Given the description of an element on the screen output the (x, y) to click on. 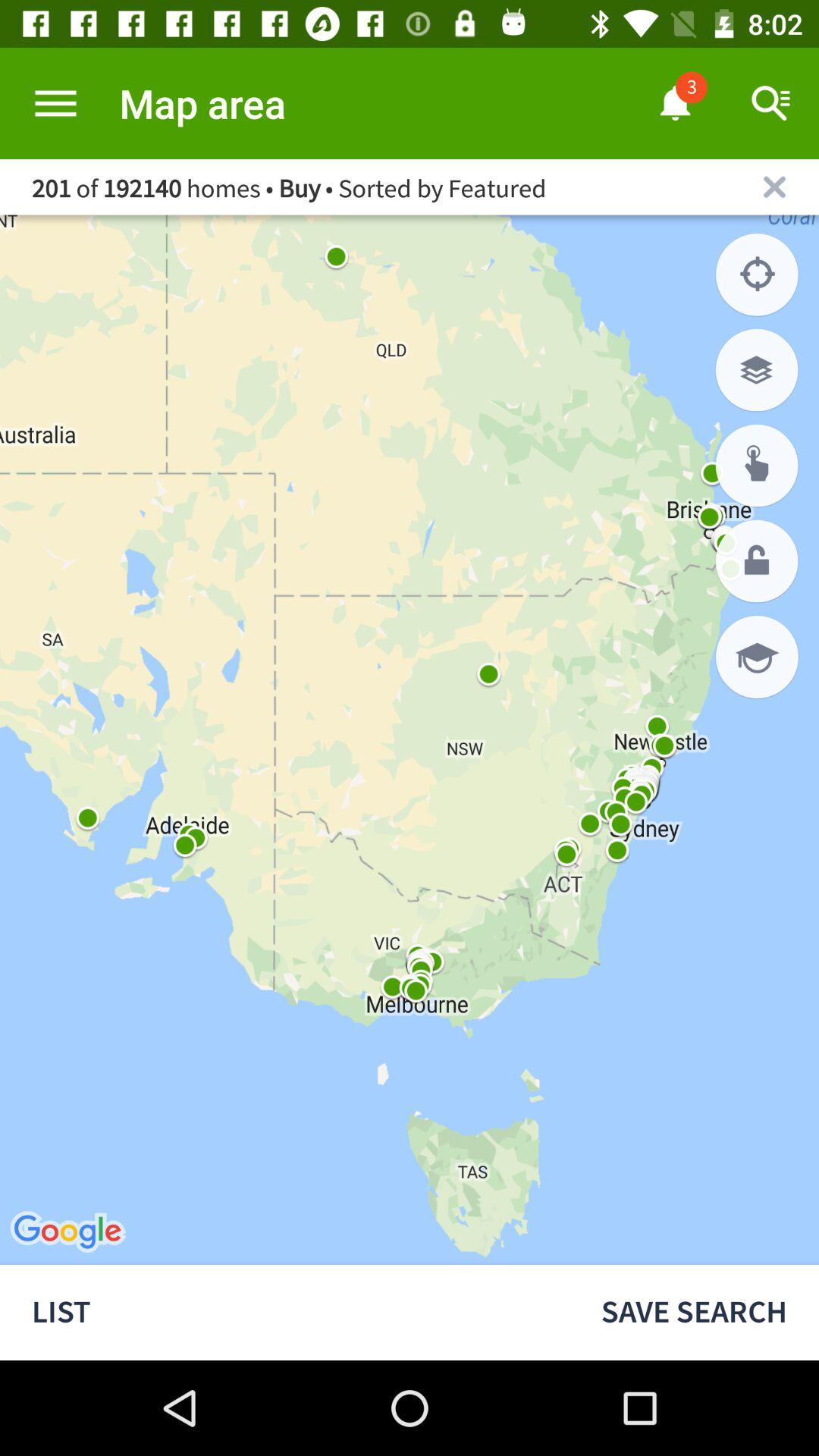
press the icon next to the save search item (284, 1312)
